Given the description of an element on the screen output the (x, y) to click on. 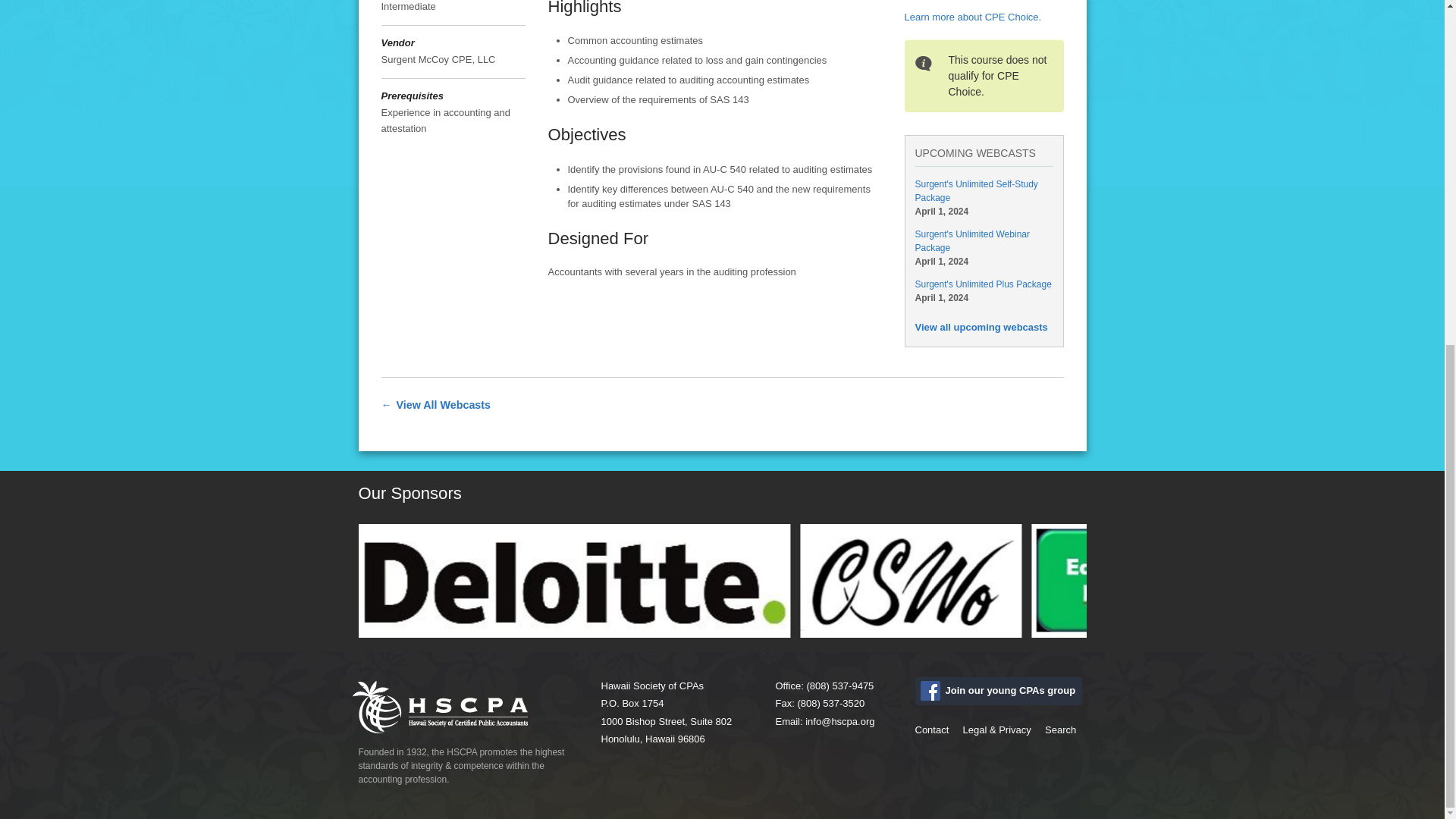
Learn more about CPE Choice. (972, 16)
